Given the description of an element on the screen output the (x, y) to click on. 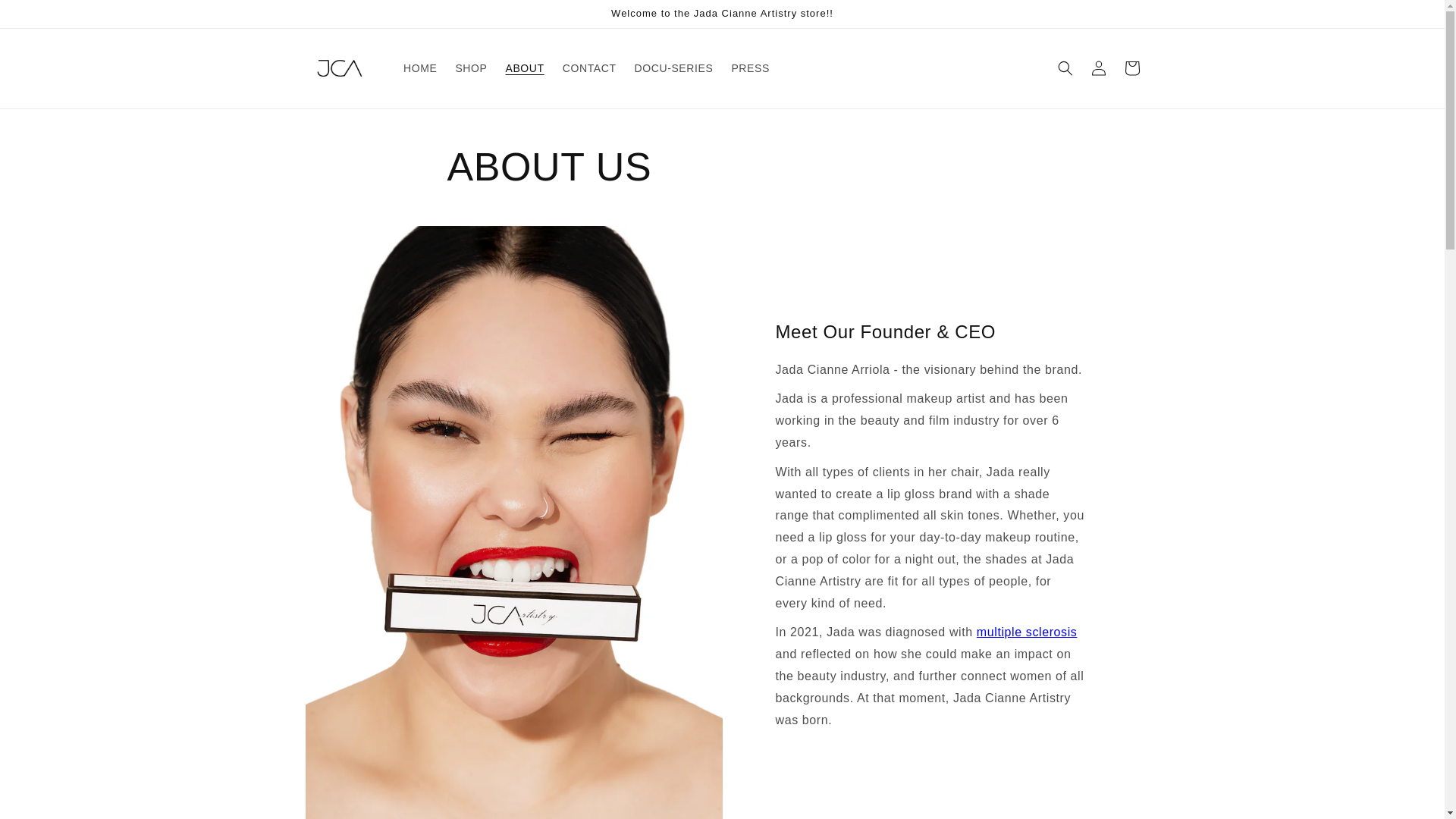
HOME (419, 68)
ABOUT (524, 68)
PRESS (749, 68)
Log in (1098, 68)
multiple sclerosis (1026, 631)
Cart (1131, 68)
SHOP (470, 68)
CONTACT (589, 68)
Skip to content (45, 16)
DOCU-SERIES (674, 68)
